Given the description of an element on the screen output the (x, y) to click on. 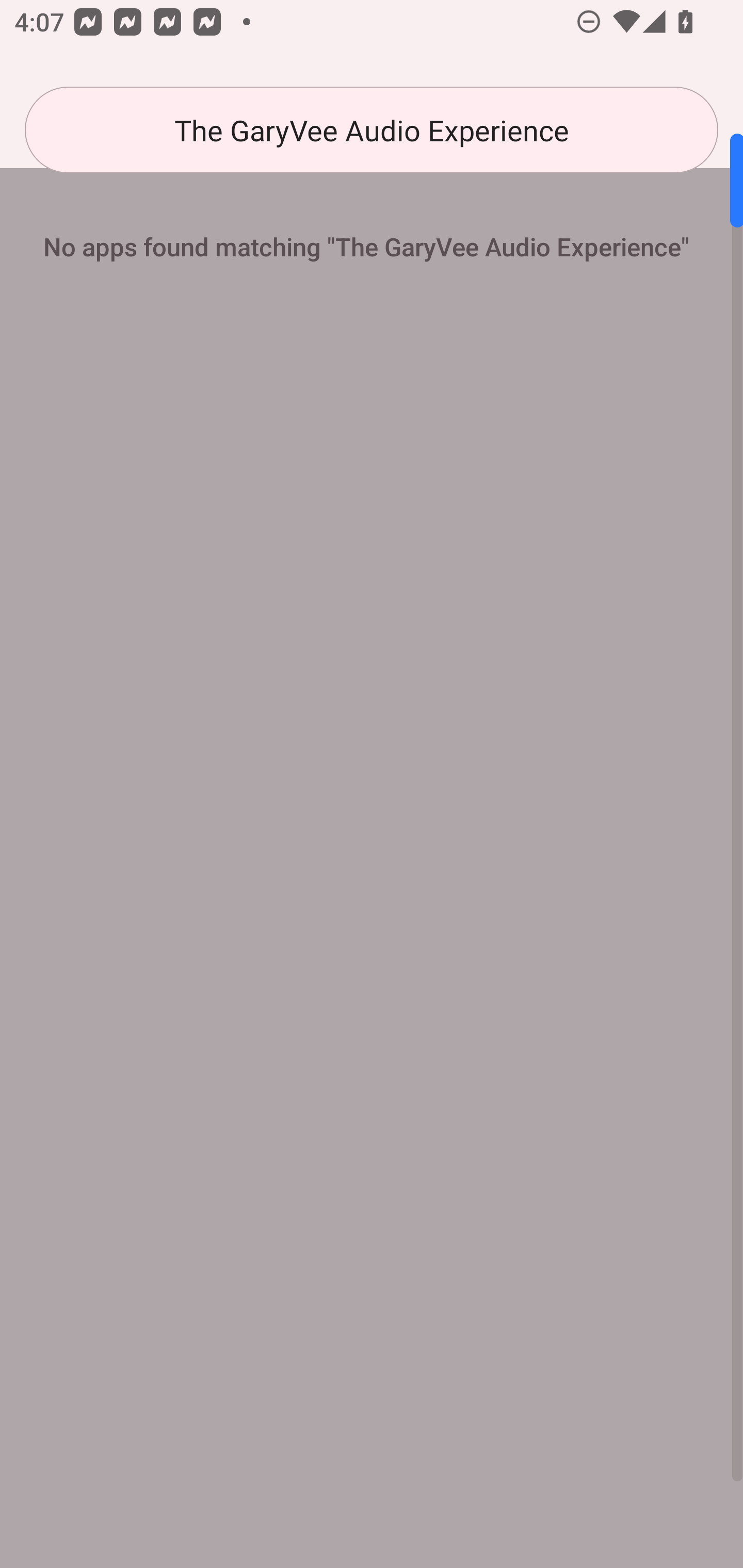
The GaryVee Audio Experience (371, 130)
